Given the description of an element on the screen output the (x, y) to click on. 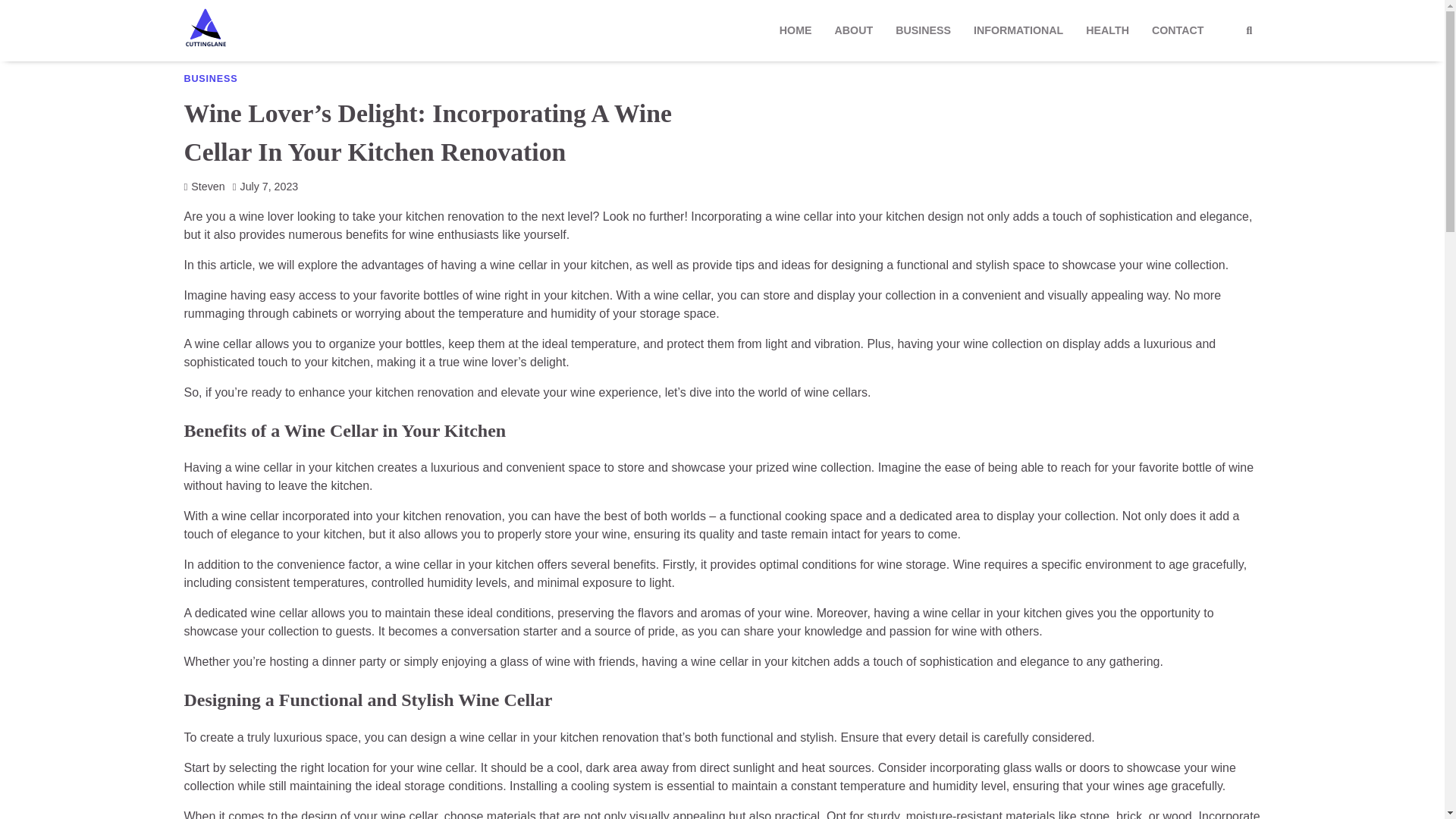
BUSINESS (922, 30)
Search (1248, 30)
HOME (796, 30)
BUSINESS (210, 78)
HEALTH (1107, 30)
Steven (203, 186)
INFORMATIONAL (1018, 30)
CONTACT (1177, 30)
Search (1221, 66)
ABOUT (854, 30)
